Given the description of an element on the screen output the (x, y) to click on. 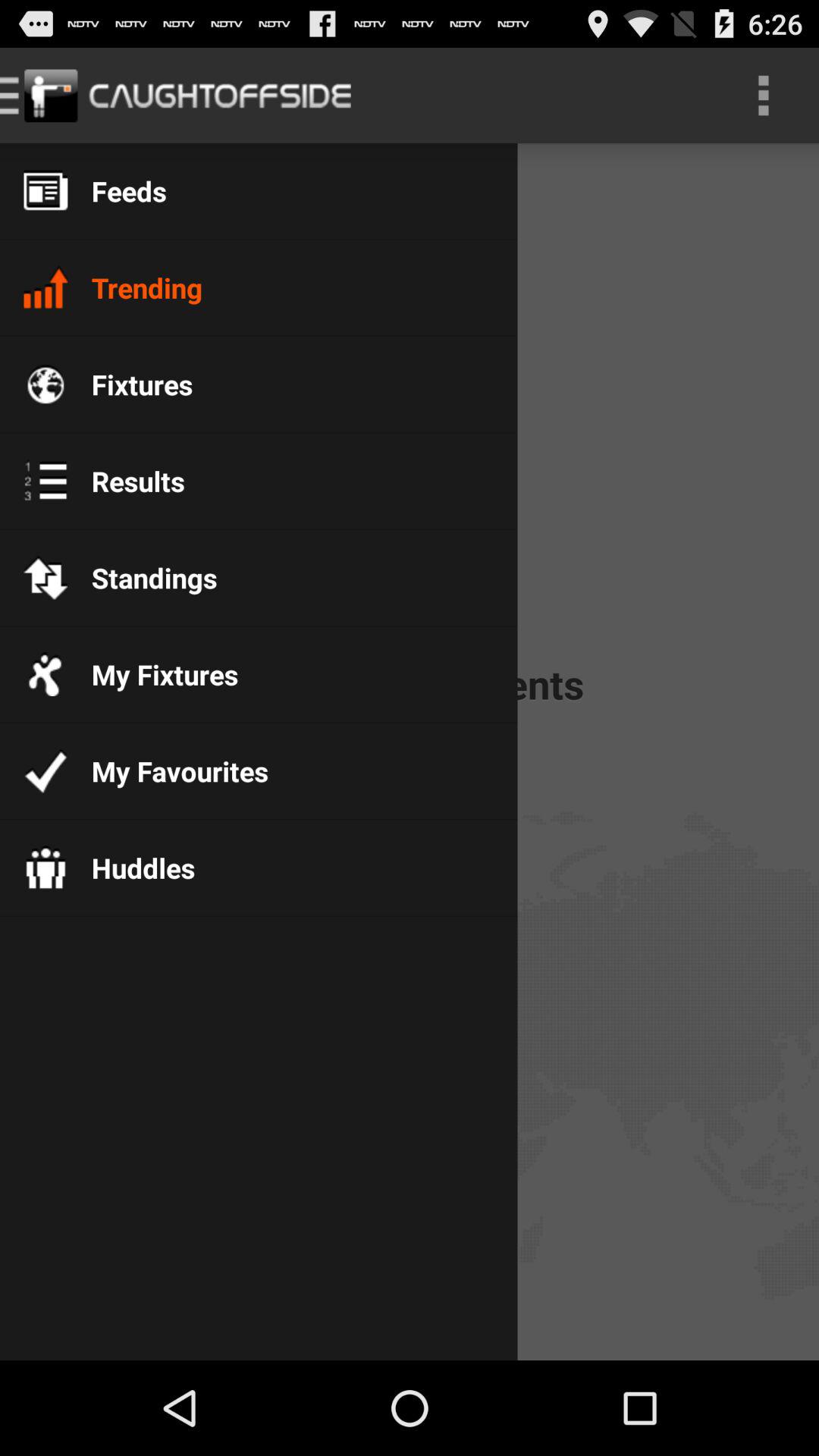
swipe to the huddles item (131, 867)
